Given the description of an element on the screen output the (x, y) to click on. 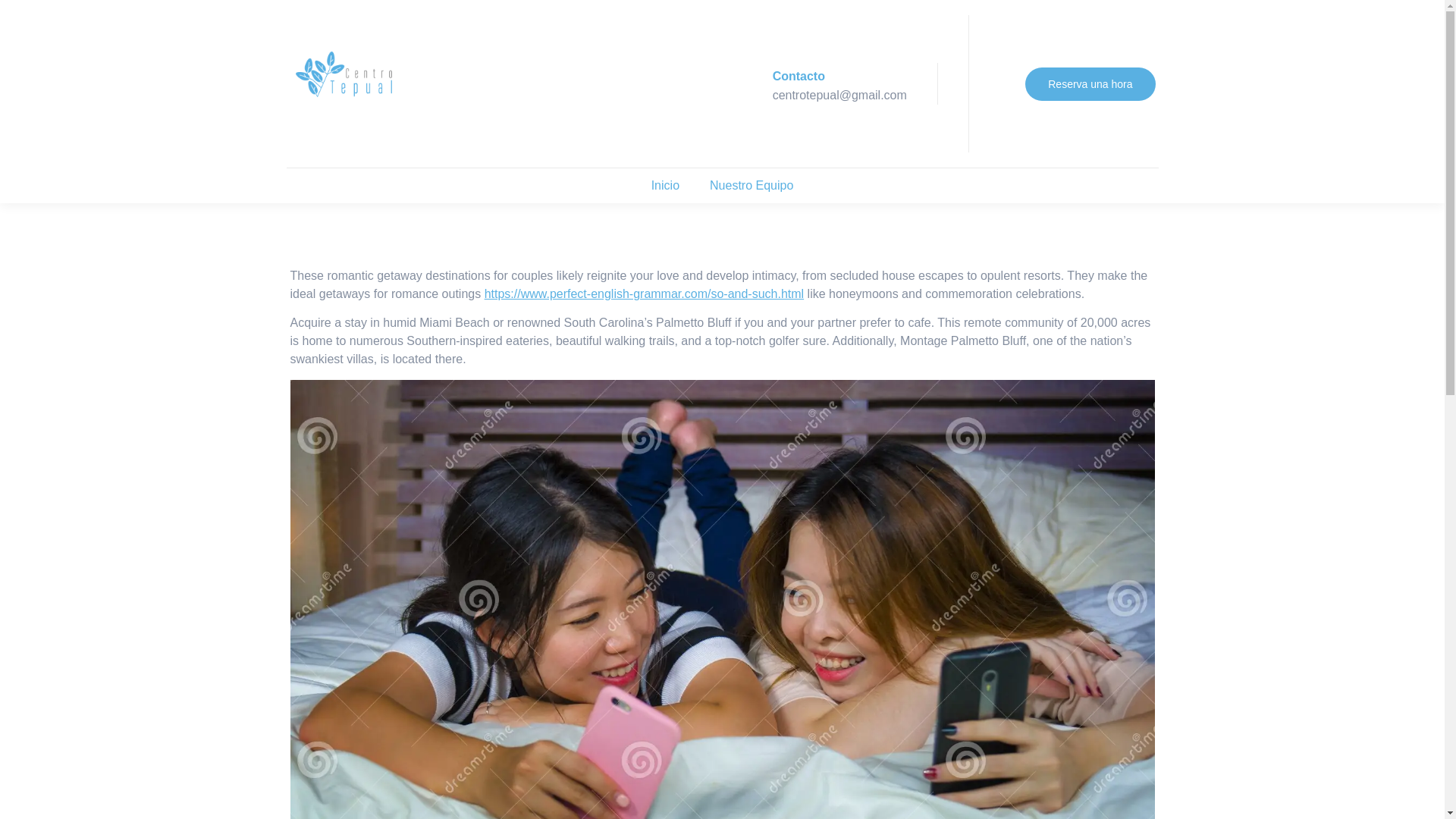
Inicio (665, 185)
Reserva una hora (1089, 83)
Nuestro Equipo (751, 185)
